Given the description of an element on the screen output the (x, y) to click on. 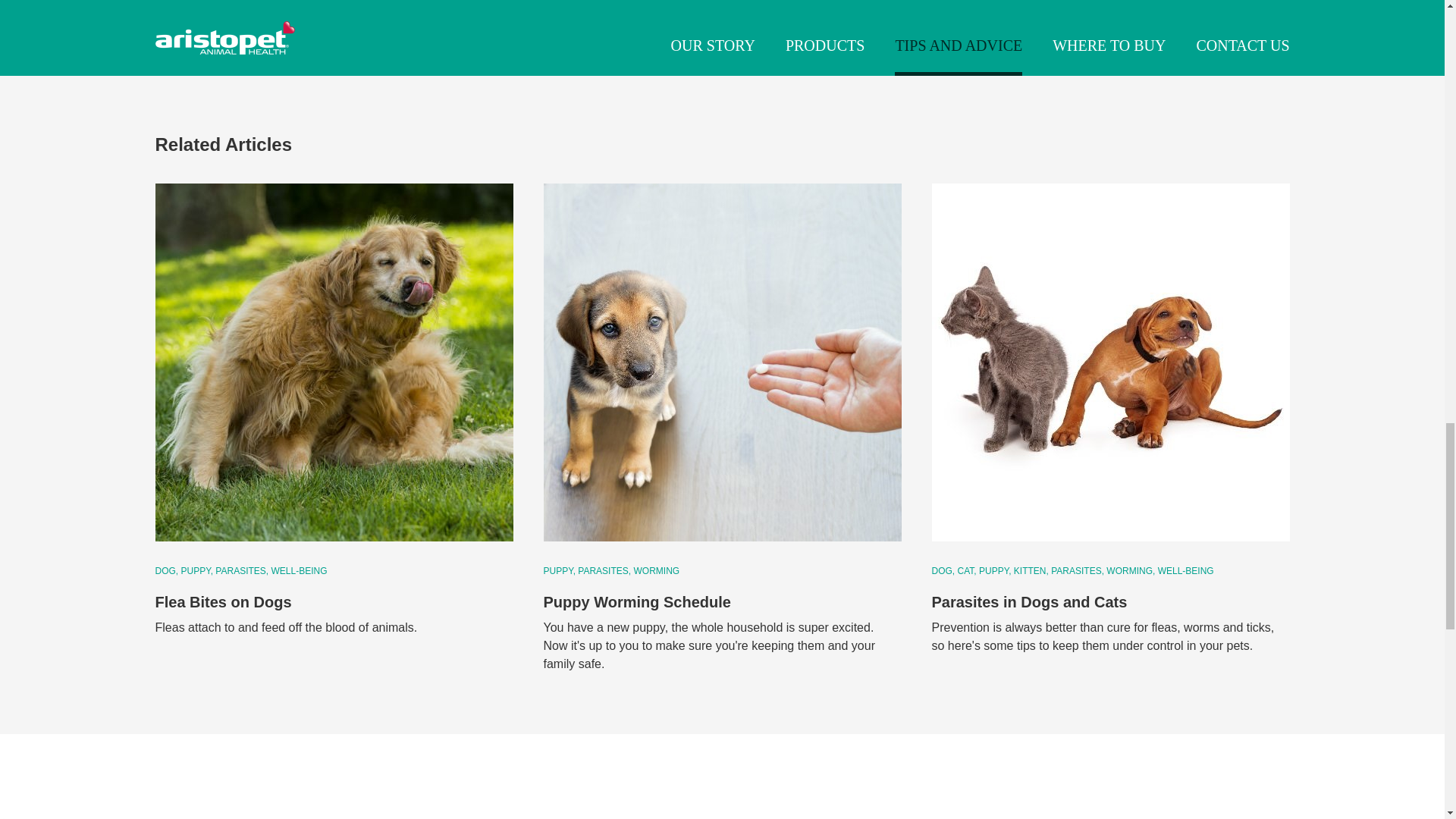
Puppy Worming Schedule (636, 601)
DOG (943, 570)
KITTEN (1030, 570)
WELL-BEING (298, 570)
DOG (165, 570)
WORMING (656, 570)
PARASITES (241, 570)
Articles by Puppy (994, 570)
Articles by Puppy (196, 570)
PARASITES (1077, 570)
PUPPY (196, 570)
Articles by Parasites (241, 570)
Articles by Worming (656, 570)
Flea Bites on Dogs (333, 362)
CAT (967, 570)
